Given the description of an element on the screen output the (x, y) to click on. 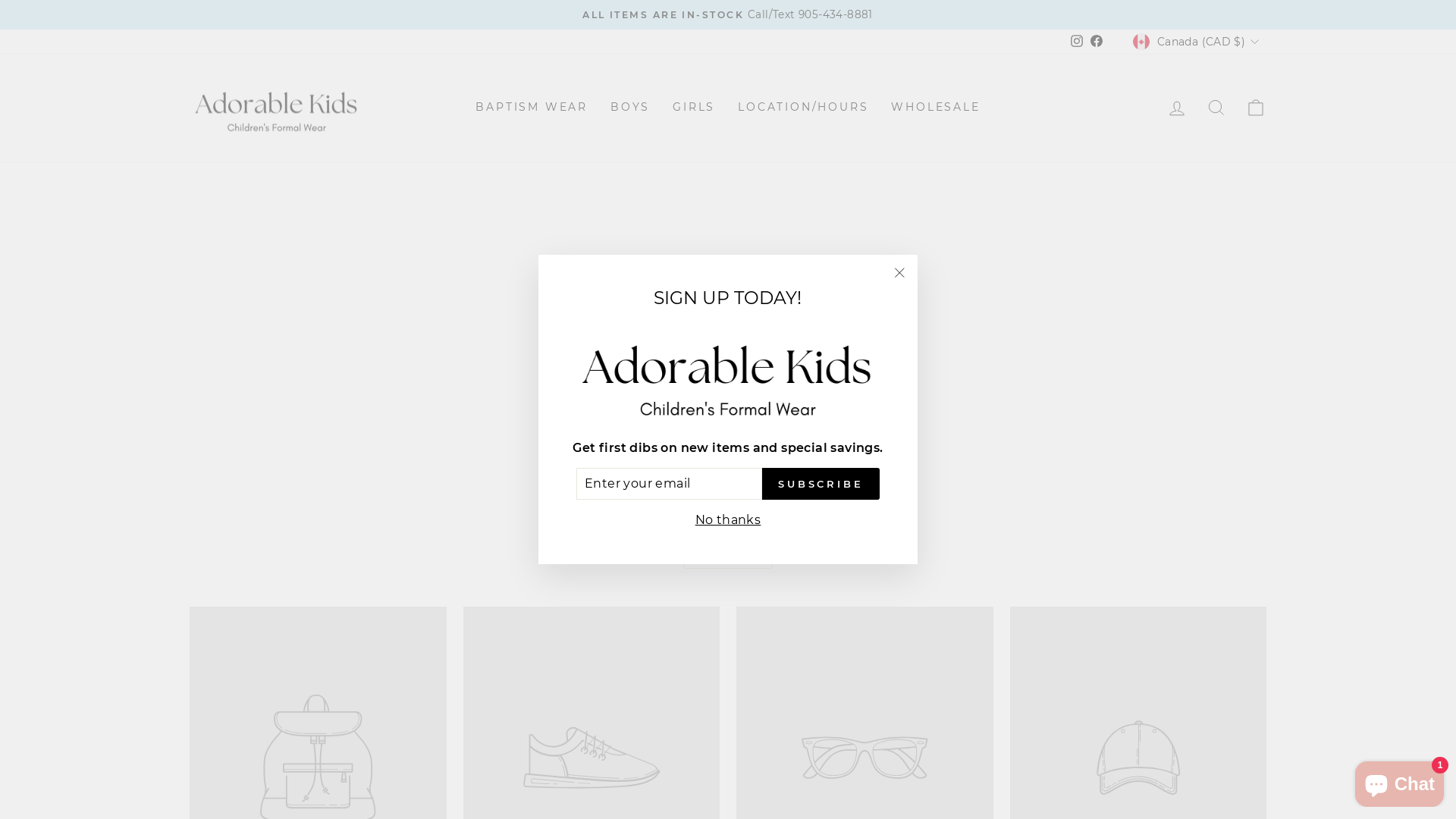
Instagram Element type: text (1076, 42)
CART Element type: text (1255, 107)
LOG IN Element type: text (1176, 107)
Canada (CAD $) Element type: text (1197, 41)
Continue shopping Element type: text (727, 346)
"Close (esc)" Element type: text (899, 272)
LOCATION/HOURS Element type: text (802, 107)
BOYS Element type: text (630, 107)
Facebook Element type: text (1096, 42)
Shopify online store chat Element type: hover (1399, 780)
VIEW ALL Element type: text (727, 555)
SEARCH Element type: text (1216, 107)
No thanks Element type: text (727, 520)
WHOLESALE Element type: text (935, 107)
SUBSCRIBE Element type: text (820, 483)
BAPTISM WEAR Element type: text (531, 107)
Skip to content Element type: text (0, 0)
GIRLS Element type: text (693, 107)
